Given the description of an element on the screen output the (x, y) to click on. 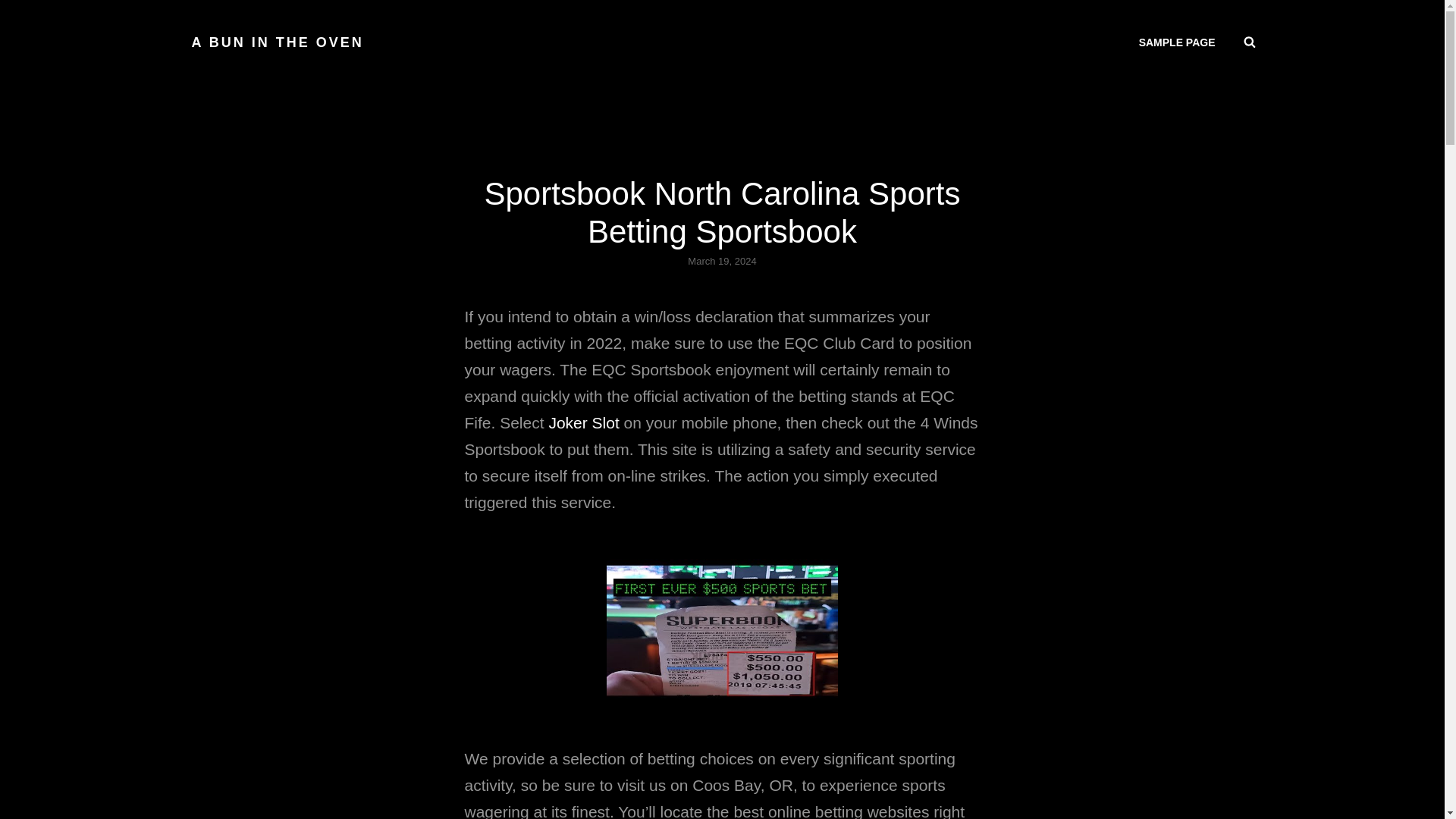
SAMPLE PAGE (1177, 42)
March 19, 2024 (721, 260)
SEARCH (1249, 42)
A BUN IN THE OVEN (276, 42)
Joker Slot (583, 422)
